Given the description of an element on the screen output the (x, y) to click on. 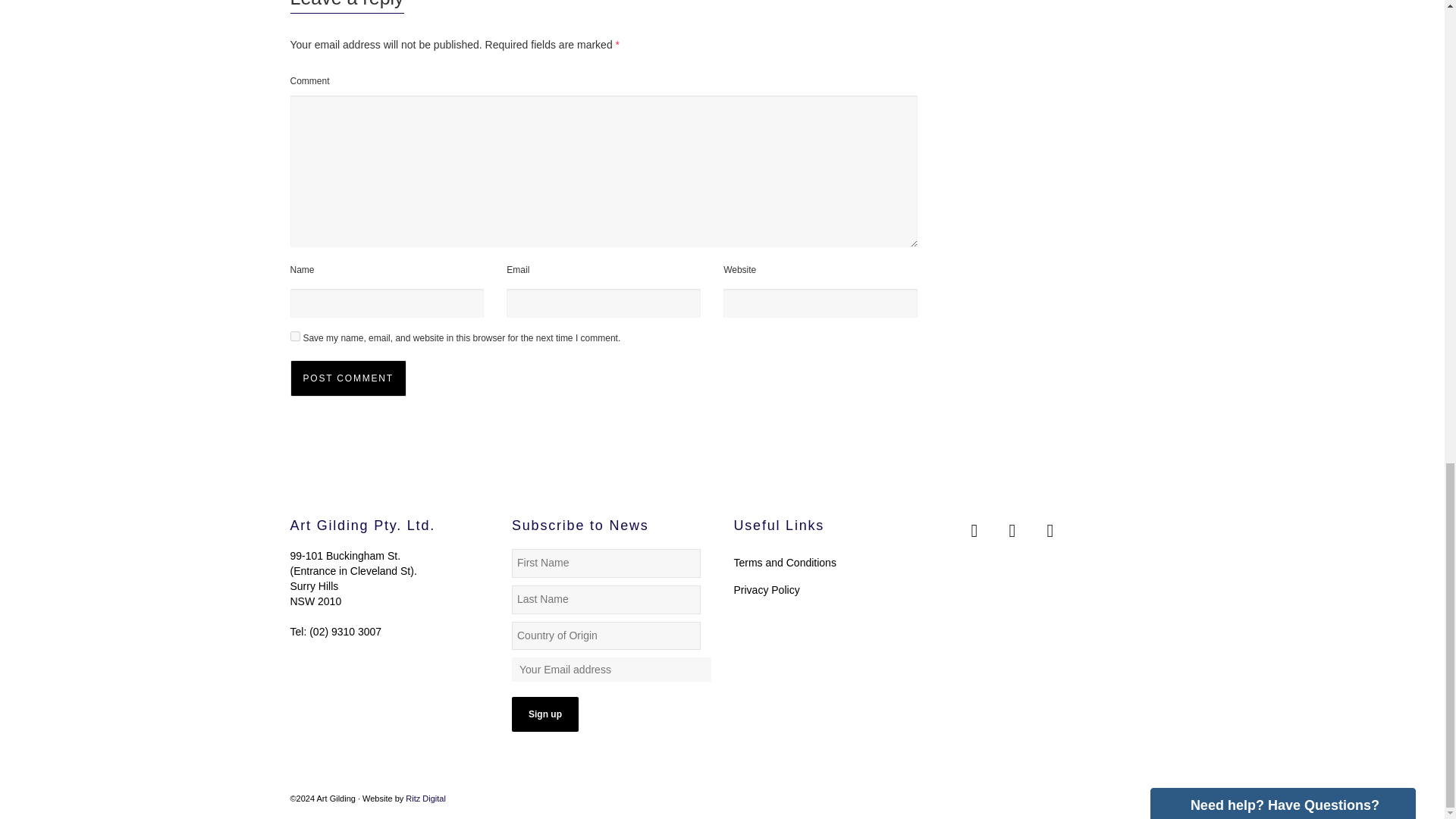
Post comment (347, 378)
Sign up (545, 714)
yes (294, 336)
Send (1186, 516)
